Given the description of an element on the screen output the (x, y) to click on. 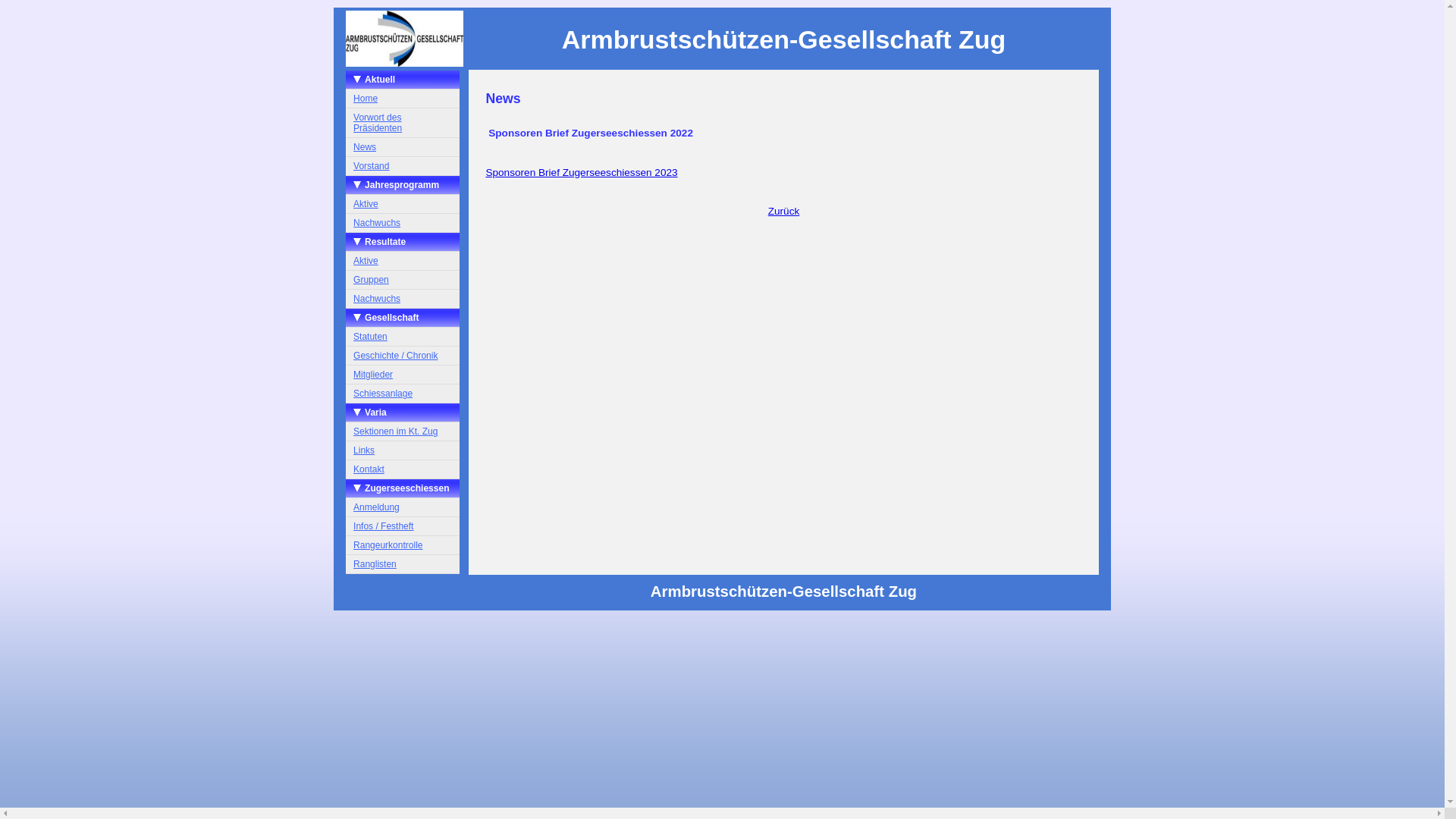
Aktive Element type: text (402, 203)
Rangeurkontrolle Element type: text (402, 545)
Nachwuchs Element type: text (402, 222)
Infos / Festheft Element type: text (402, 526)
Schiessanlage Element type: text (402, 393)
Home Element type: text (402, 98)
Sektionen im Kt. Zug Element type: text (402, 431)
Ranglisten Element type: text (402, 564)
Links Element type: text (402, 450)
News Element type: text (402, 147)
Kontakt Element type: text (402, 469)
Vorstand Element type: text (402, 165)
Gruppen Element type: text (402, 279)
Aktive Element type: text (402, 260)
Mitglieder Element type: text (402, 374)
Anmeldung Element type: text (402, 507)
Nachwuchs Element type: text (402, 298)
Statuten Element type: text (402, 336)
Sponsoren Brief Zugerseeschiessen 2023 Element type: text (581, 172)
Geschichte / Chronik Element type: text (402, 355)
